Given the description of an element on the screen output the (x, y) to click on. 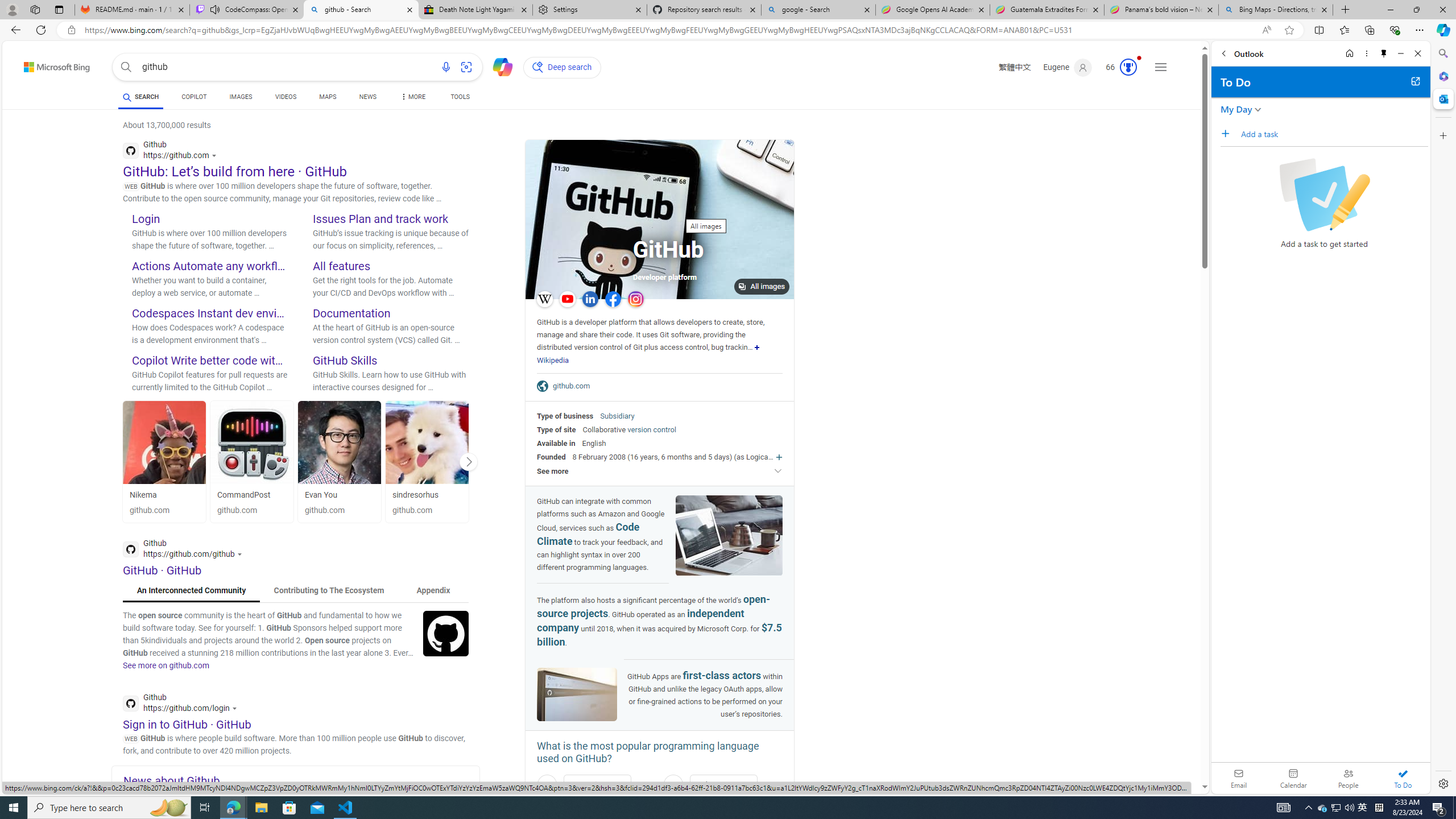
Instagram (635, 299)
Official Site (545, 385)
GitHub (667, 250)
Nikema Nikema github.com (163, 461)
CommandPost (251, 494)
github - Search (360, 9)
Evan You Evan You github.com (339, 461)
TOOLS (460, 96)
B Python (722, 784)
Microsoft Rewards 63 (1118, 67)
github.com (574, 385)
